Given the description of an element on the screen output the (x, y) to click on. 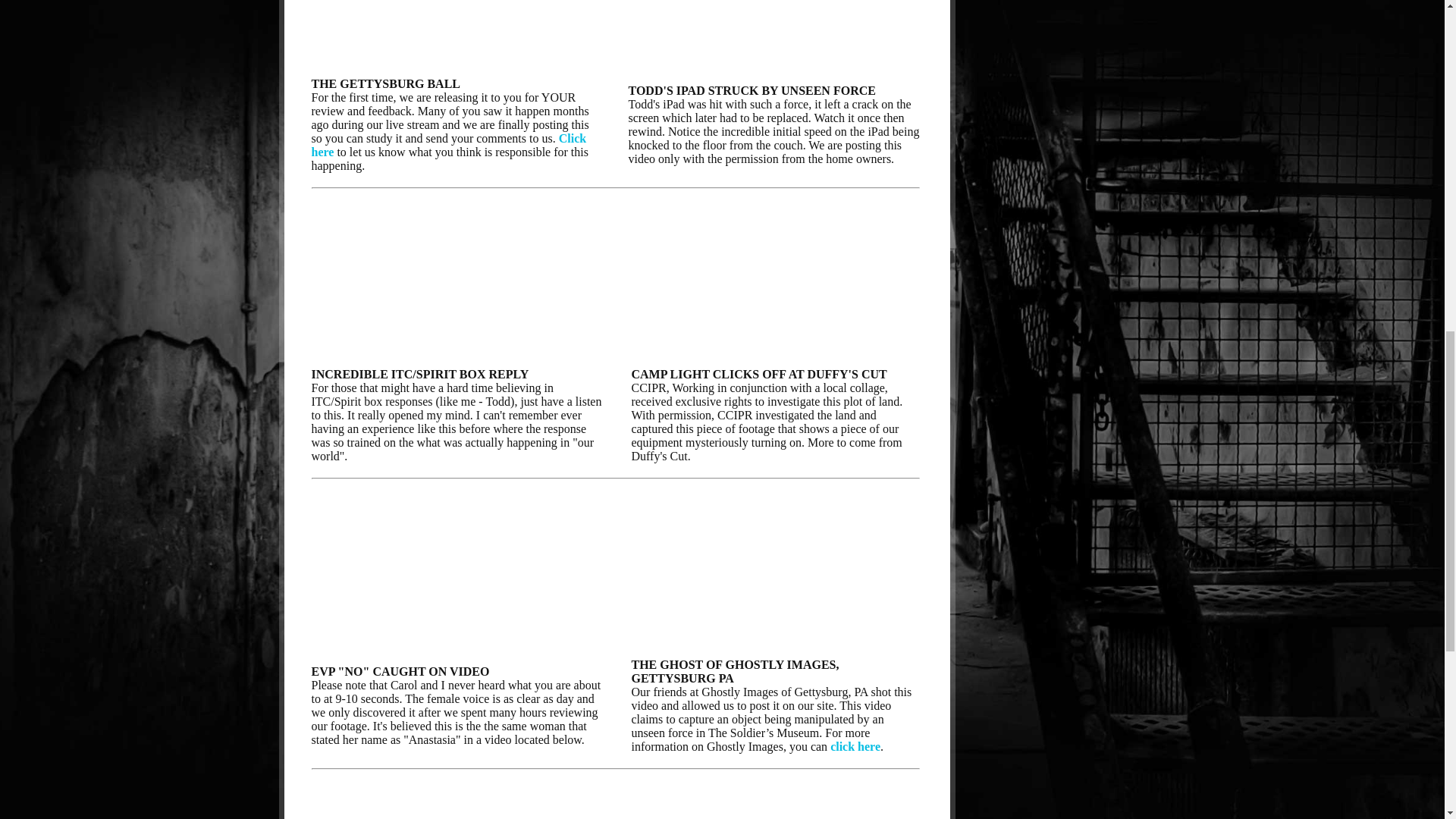
click here (854, 746)
Click here (448, 144)
